Given the description of an element on the screen output the (x, y) to click on. 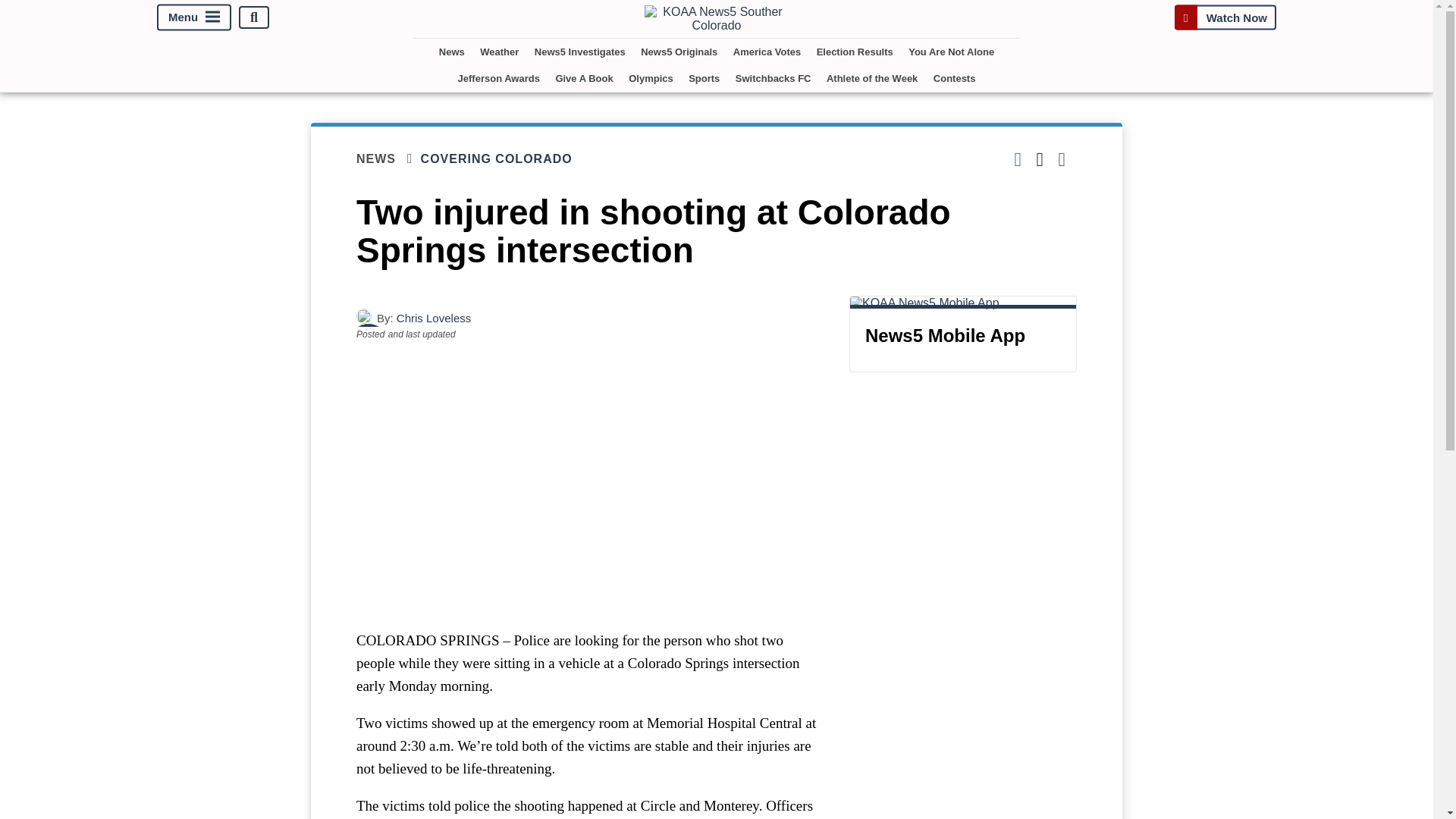
Watch Now (1224, 16)
YouTube player (587, 484)
Menu (194, 17)
